Given the description of an element on the screen output the (x, y) to click on. 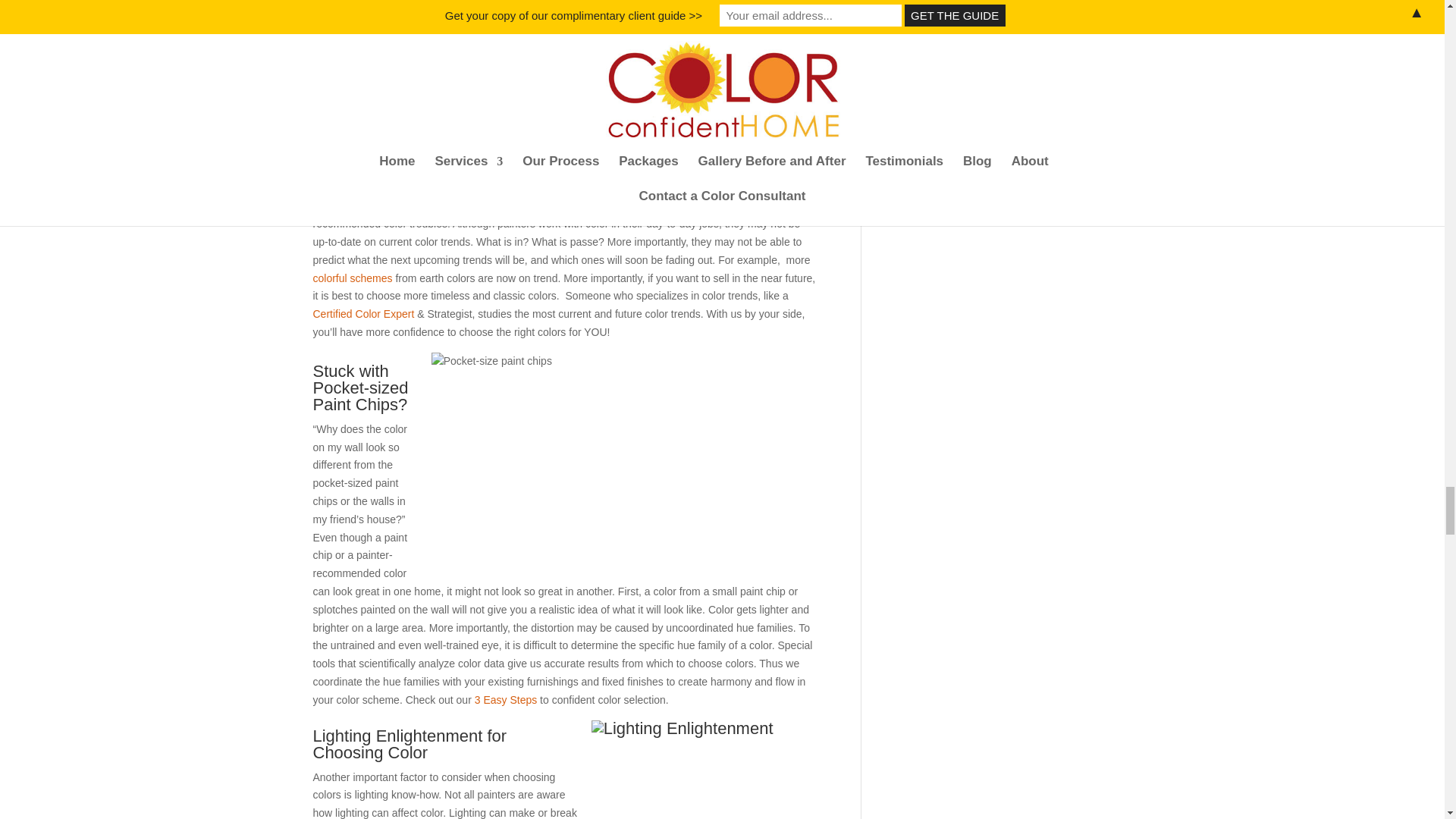
Lighting Enlightenment (703, 769)
